Given the description of an element on the screen output the (x, y) to click on. 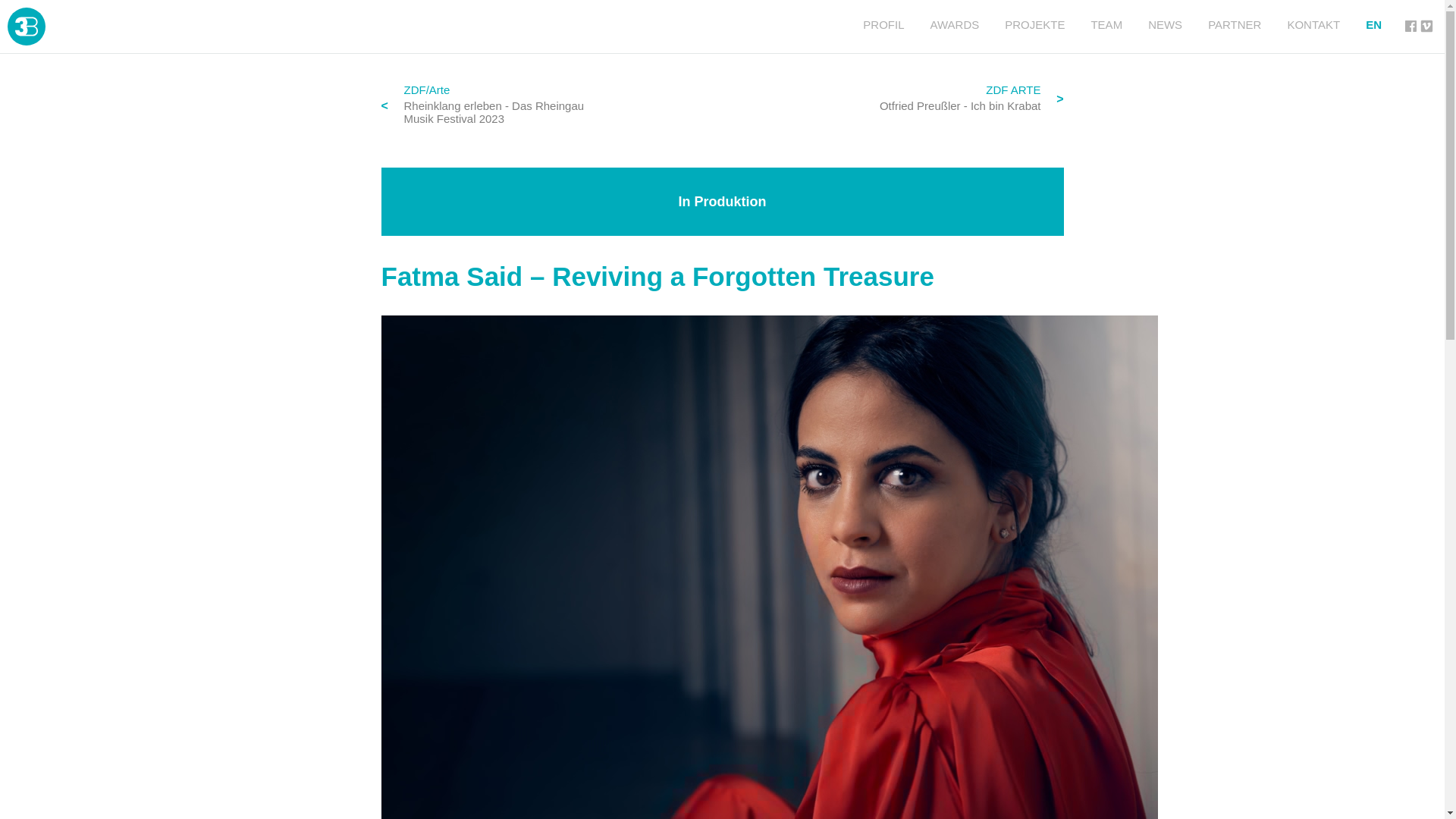
PARTNER (1234, 24)
AWARDS (954, 24)
EN (1373, 24)
PROFIL (883, 24)
TEAM (1106, 24)
PROJEKTE (1034, 24)
NEWS (1165, 24)
KONTAKT (1313, 24)
